Given the description of an element on the screen output the (x, y) to click on. 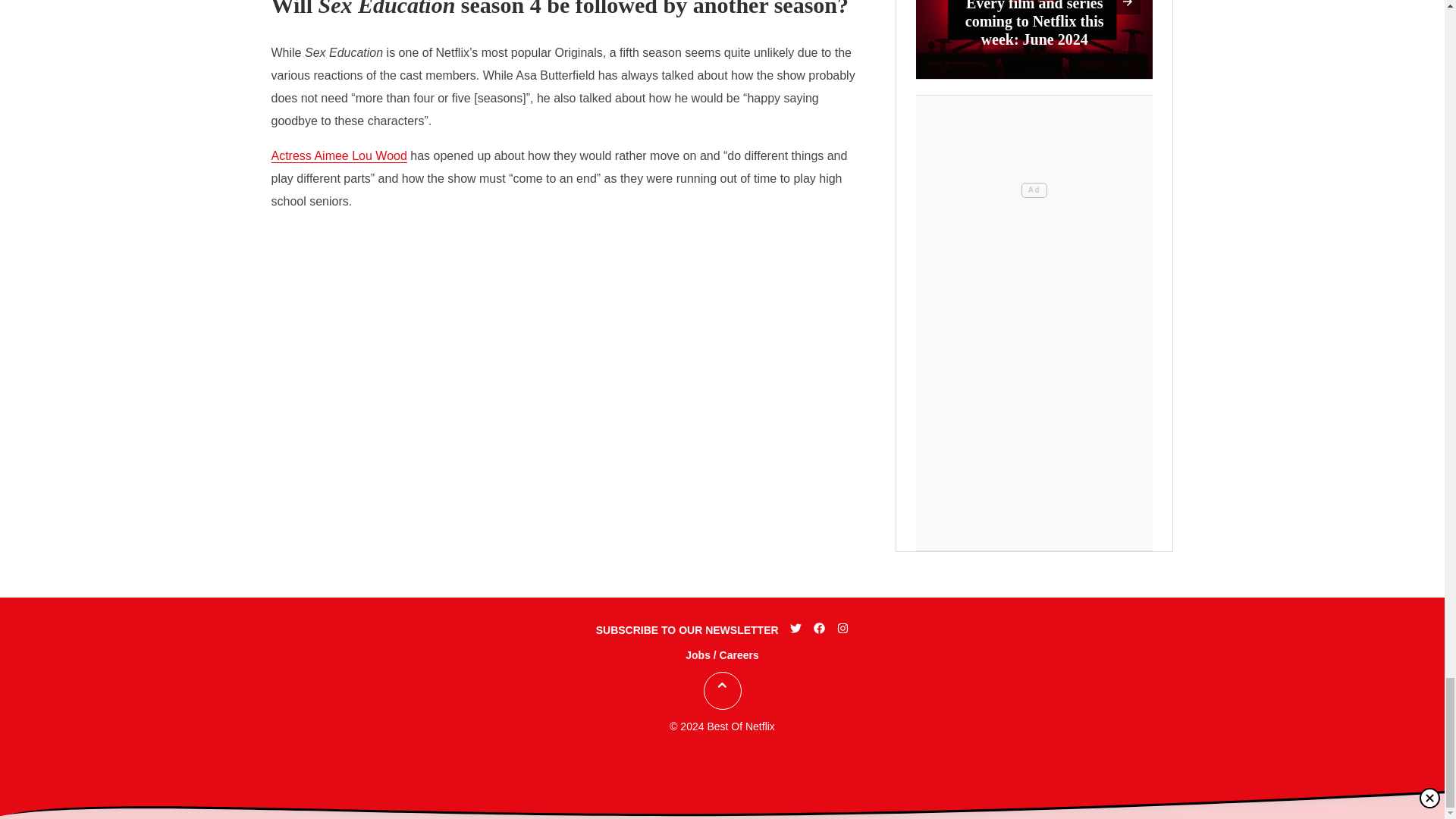
Actress Aimee Lou Wood (338, 155)
